Given the description of an element on the screen output the (x, y) to click on. 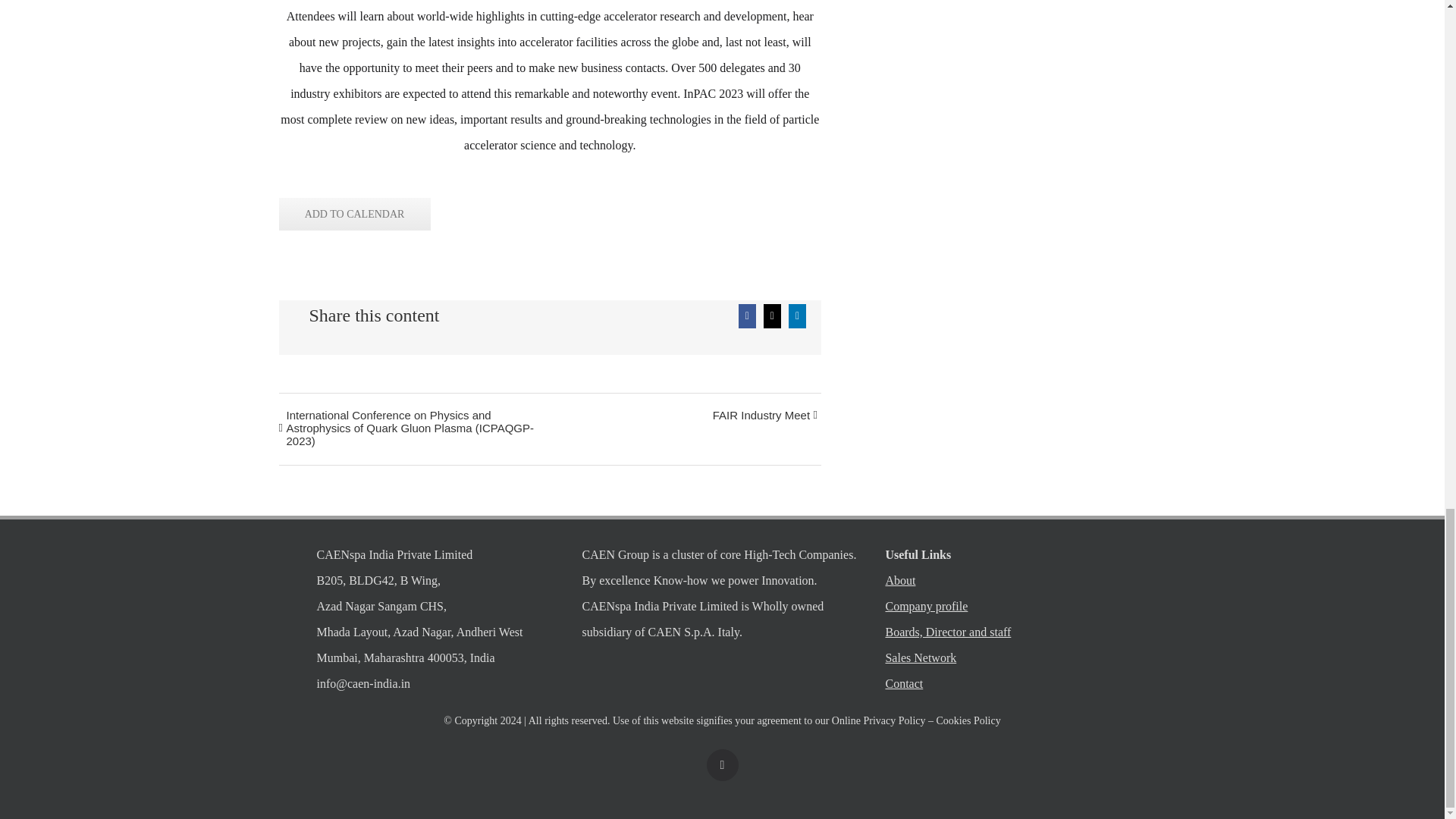
ADD TO CALENDAR (354, 214)
Company profile (1025, 606)
About (1025, 580)
Boards, Director and staff (1025, 632)
FAIR Industry Meet (756, 416)
